Given the description of an element on the screen output the (x, y) to click on. 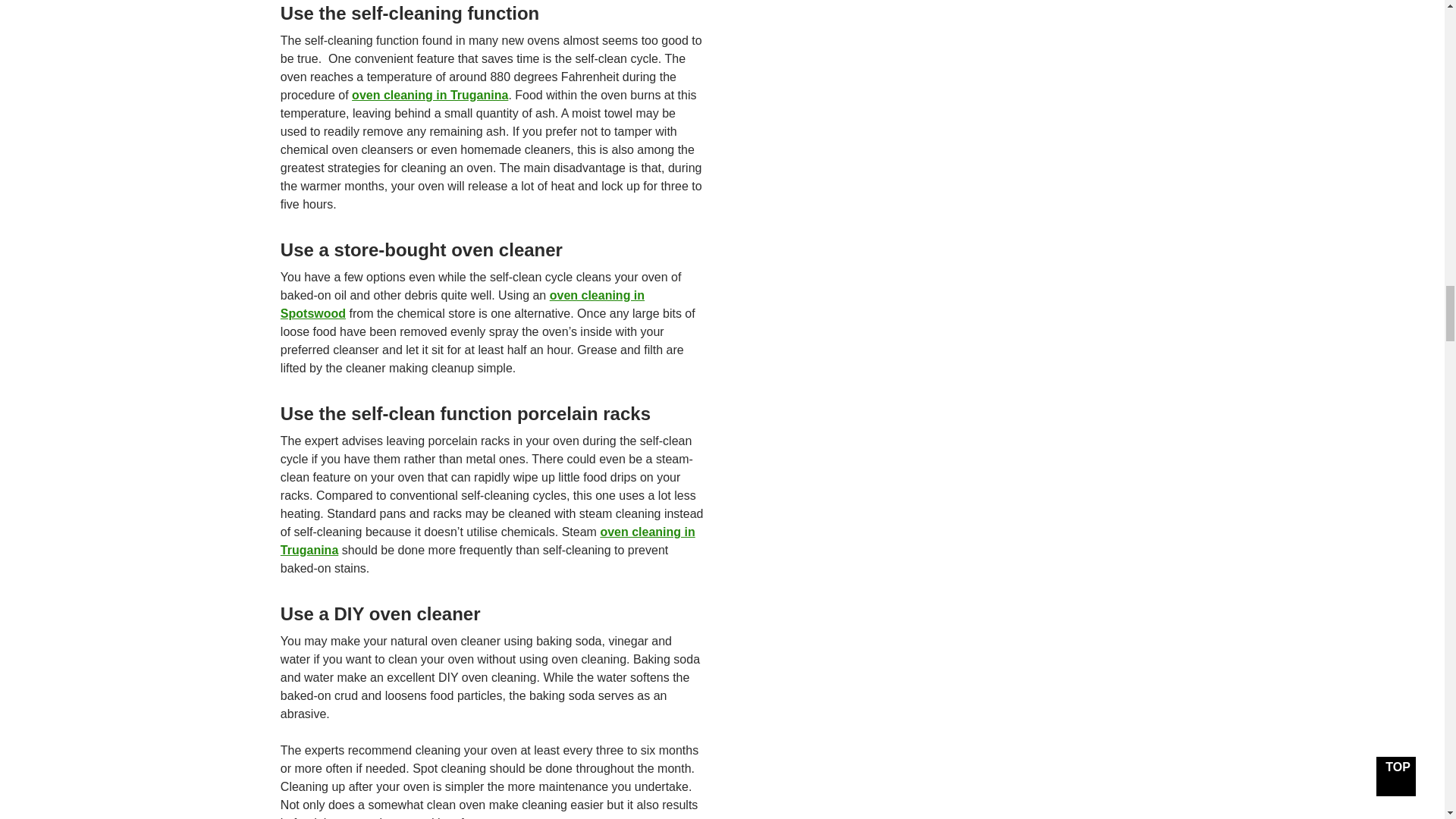
oven cleaning in Truganina (488, 540)
oven cleaning in Spotswood (463, 304)
oven cleaning in Truganina (430, 94)
